Given the description of an element on the screen output the (x, y) to click on. 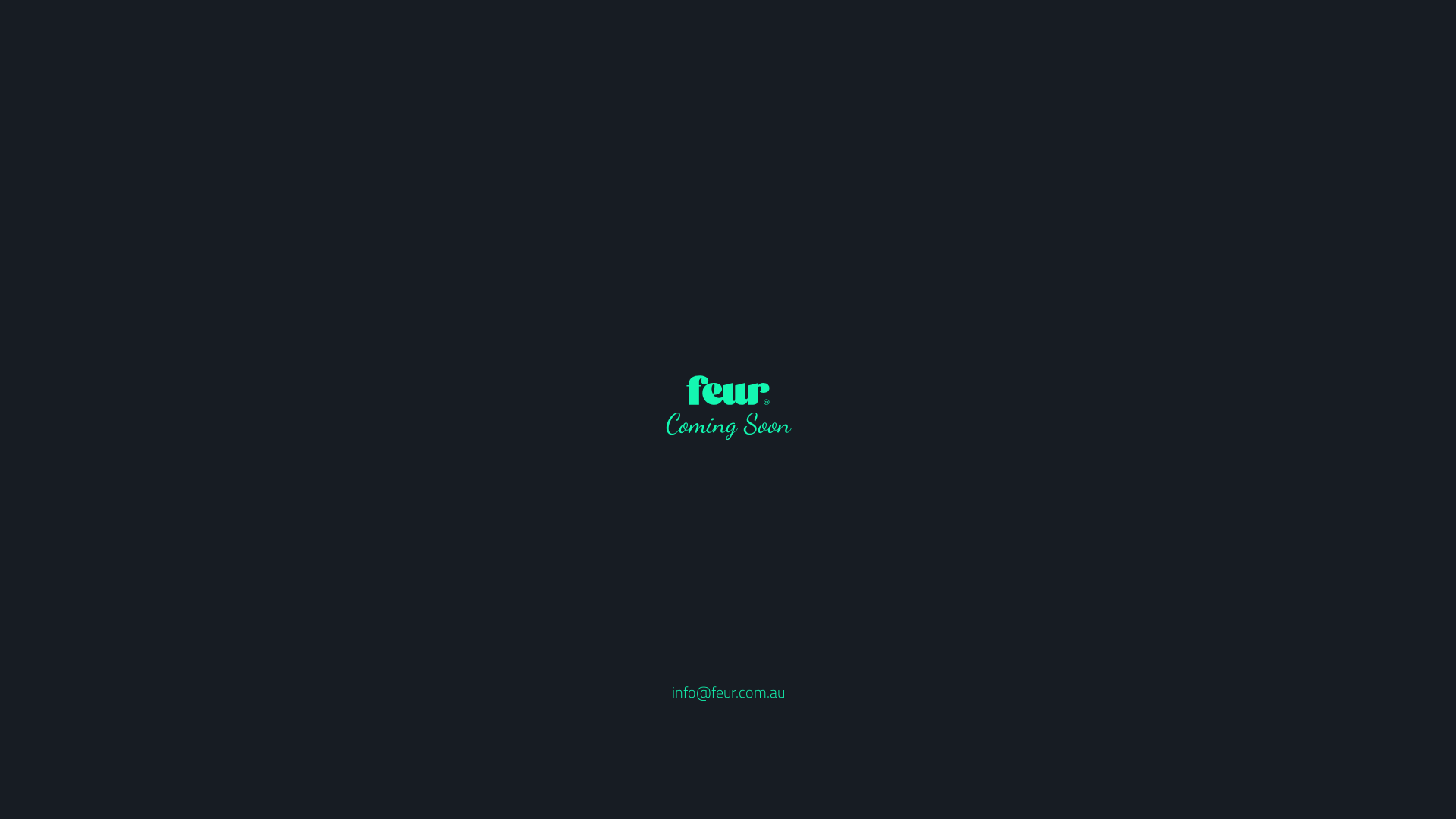
info@feur.com.au Element type: text (727, 691)
